Given the description of an element on the screen output the (x, y) to click on. 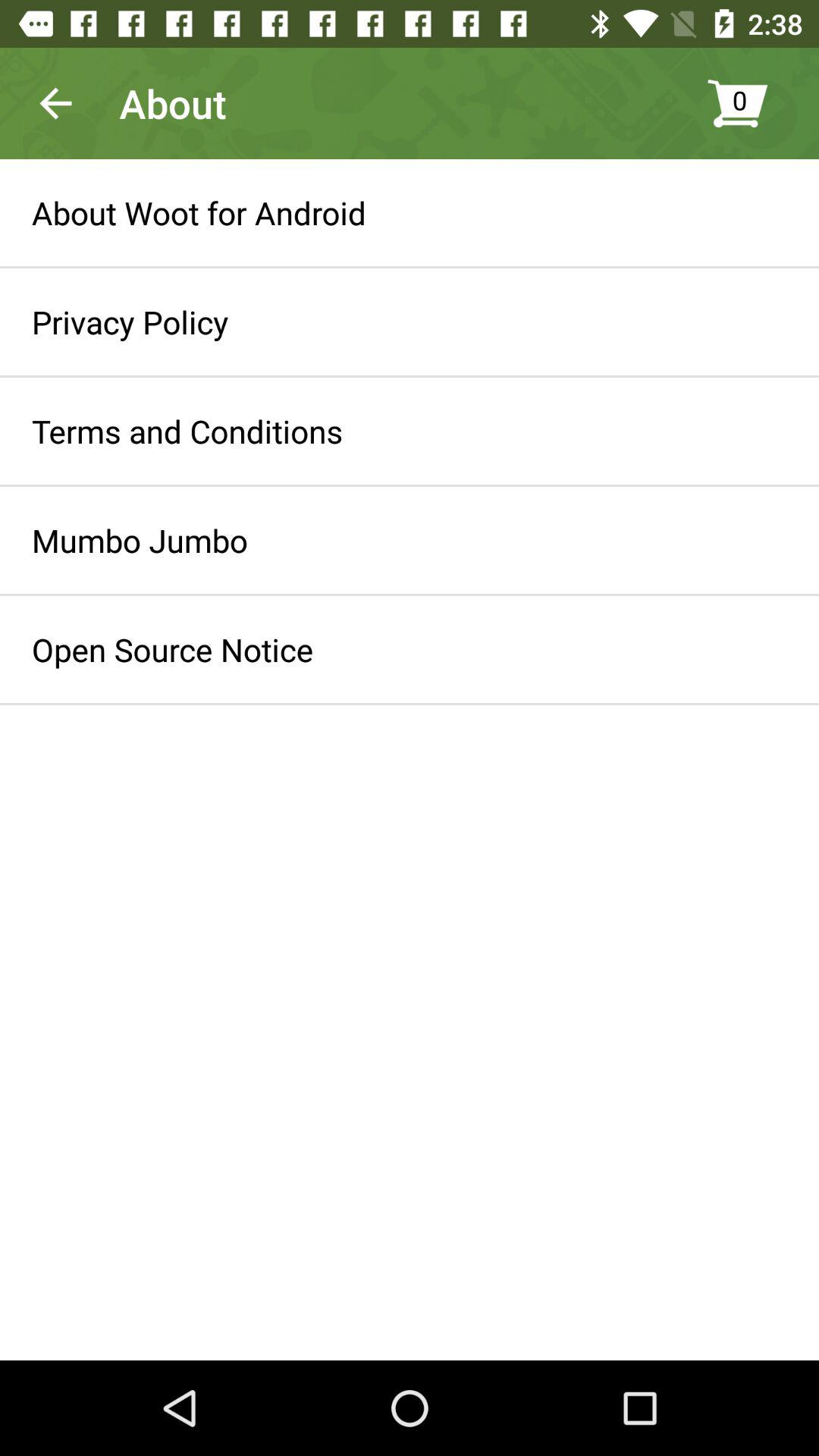
launch icon above the mumbo jumbo icon (186, 430)
